Given the description of an element on the screen output the (x, y) to click on. 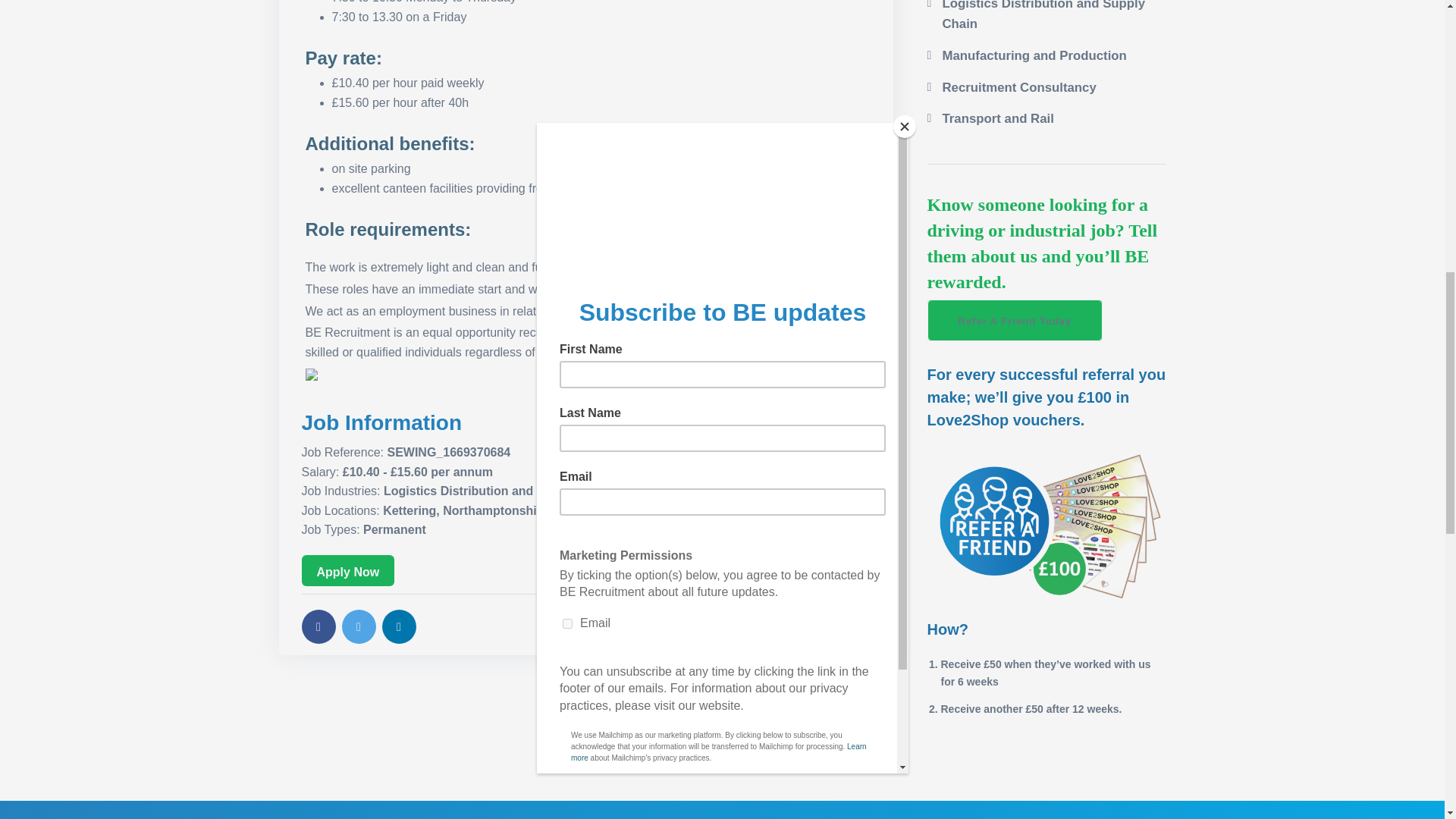
Share on LinkedIn (398, 626)
Refer a Friend Today (1014, 320)
Share on Twitter (357, 626)
Share on Facebook (318, 626)
